Given the description of an element on the screen output the (x, y) to click on. 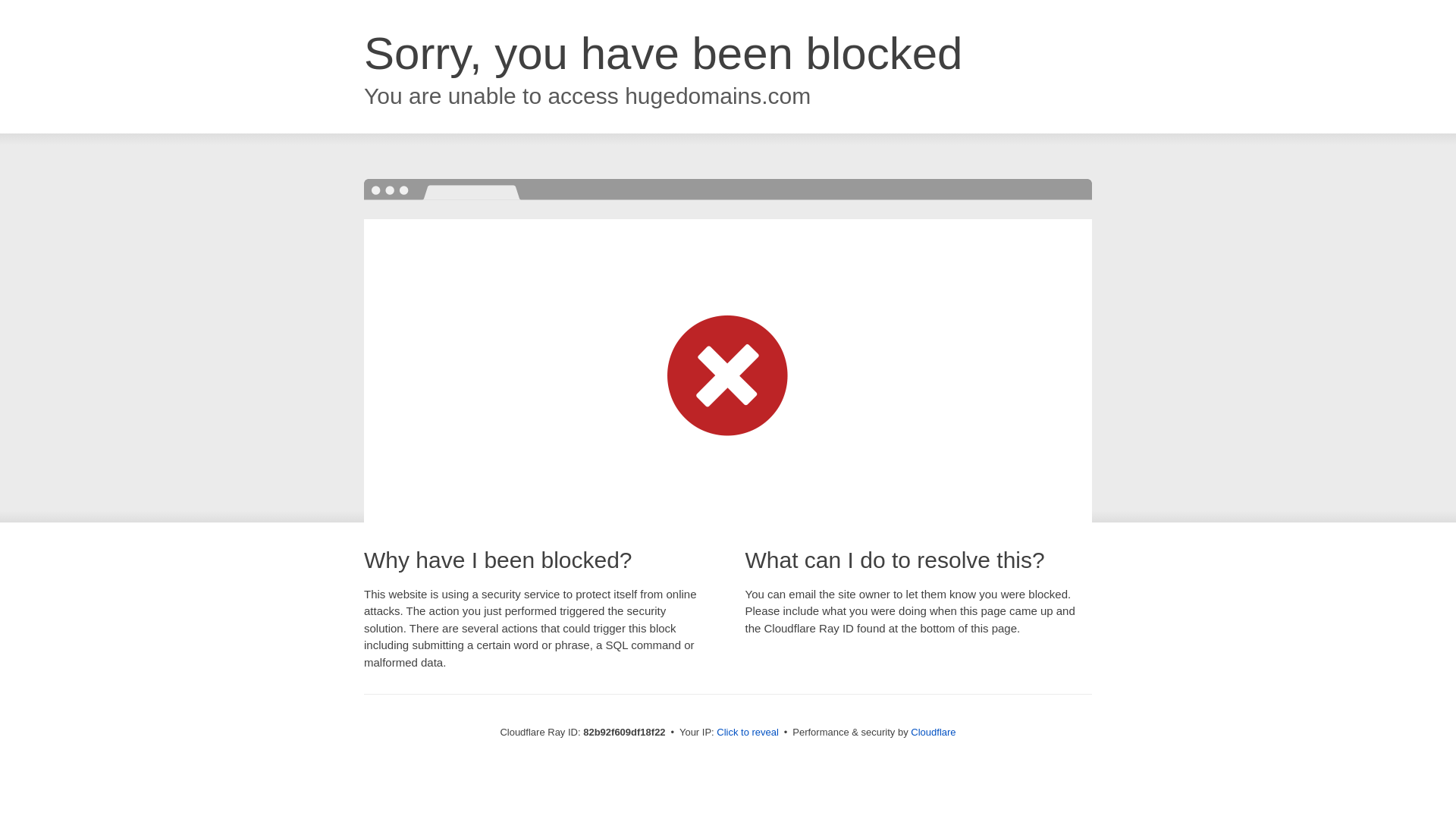
Click to reveal Element type: text (747, 732)
Cloudflare Element type: text (932, 731)
